Given the description of an element on the screen output the (x, y) to click on. 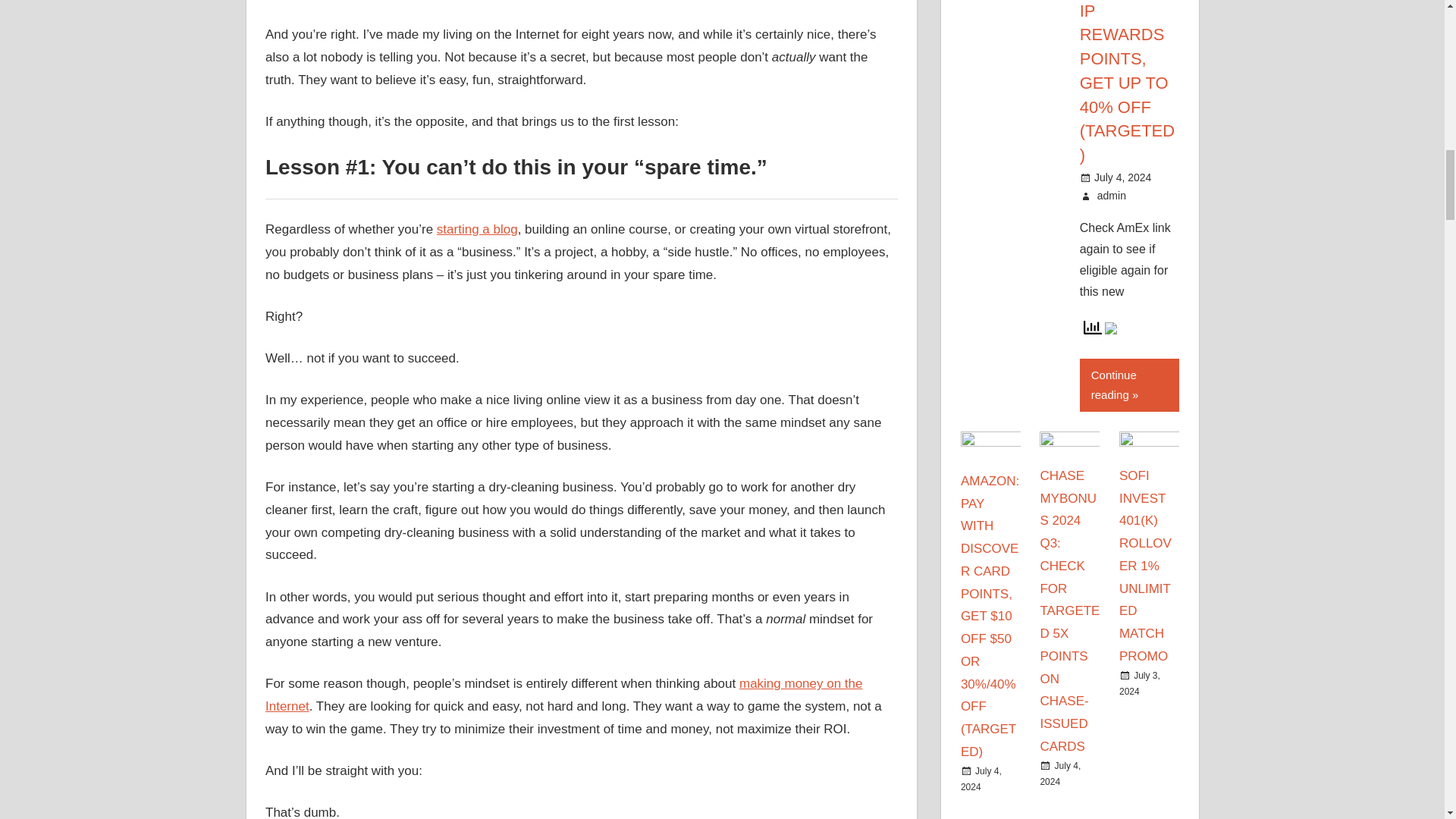
starting a blog (477, 228)
making money on the internet (563, 694)
making money on the Internet (563, 694)
starting a blog (477, 228)
